Given the description of an element on the screen output the (x, y) to click on. 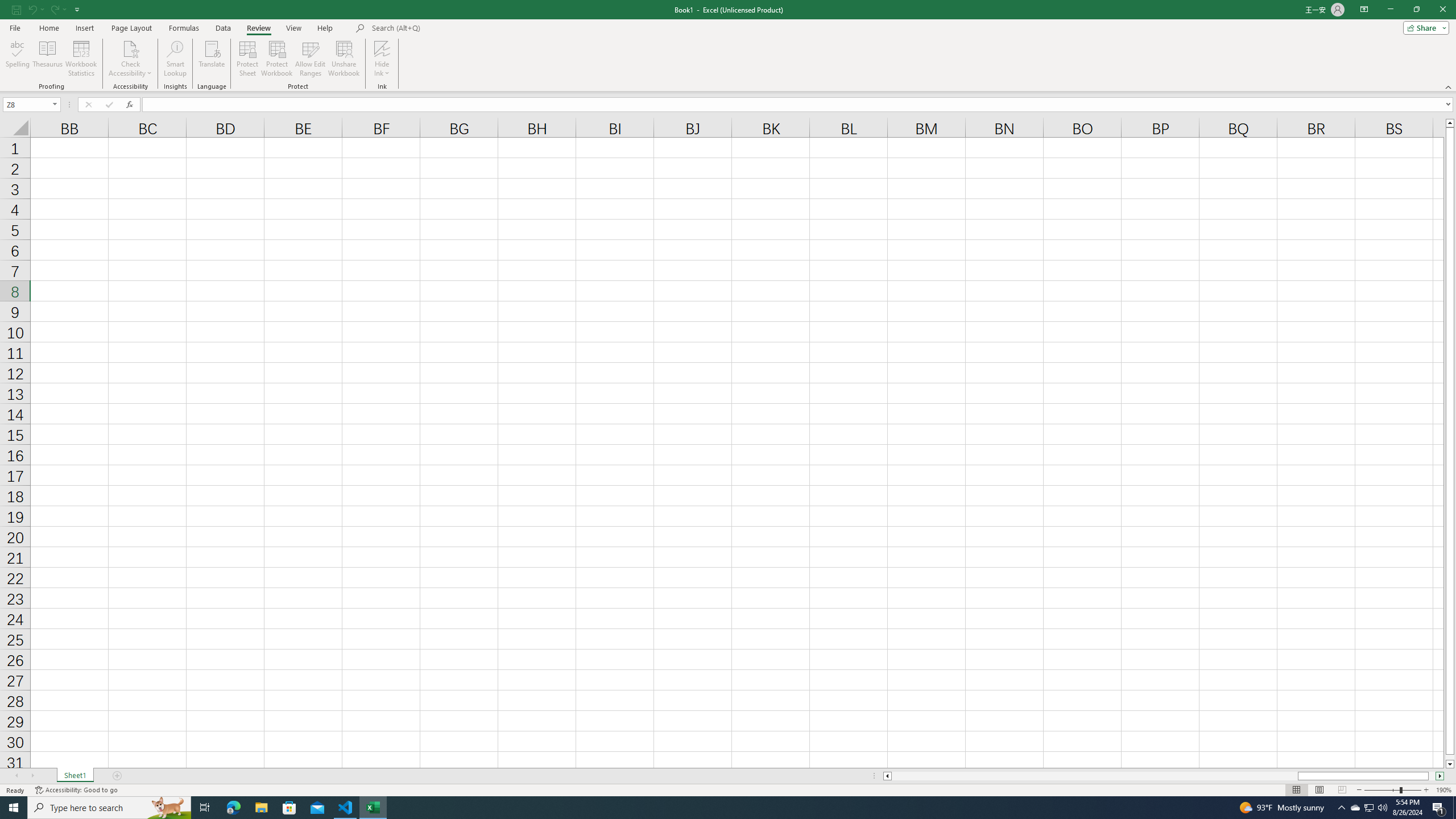
Hide Ink (381, 48)
Translate (211, 58)
Allow Edit Ranges (310, 58)
